Given the description of an element on the screen output the (x, y) to click on. 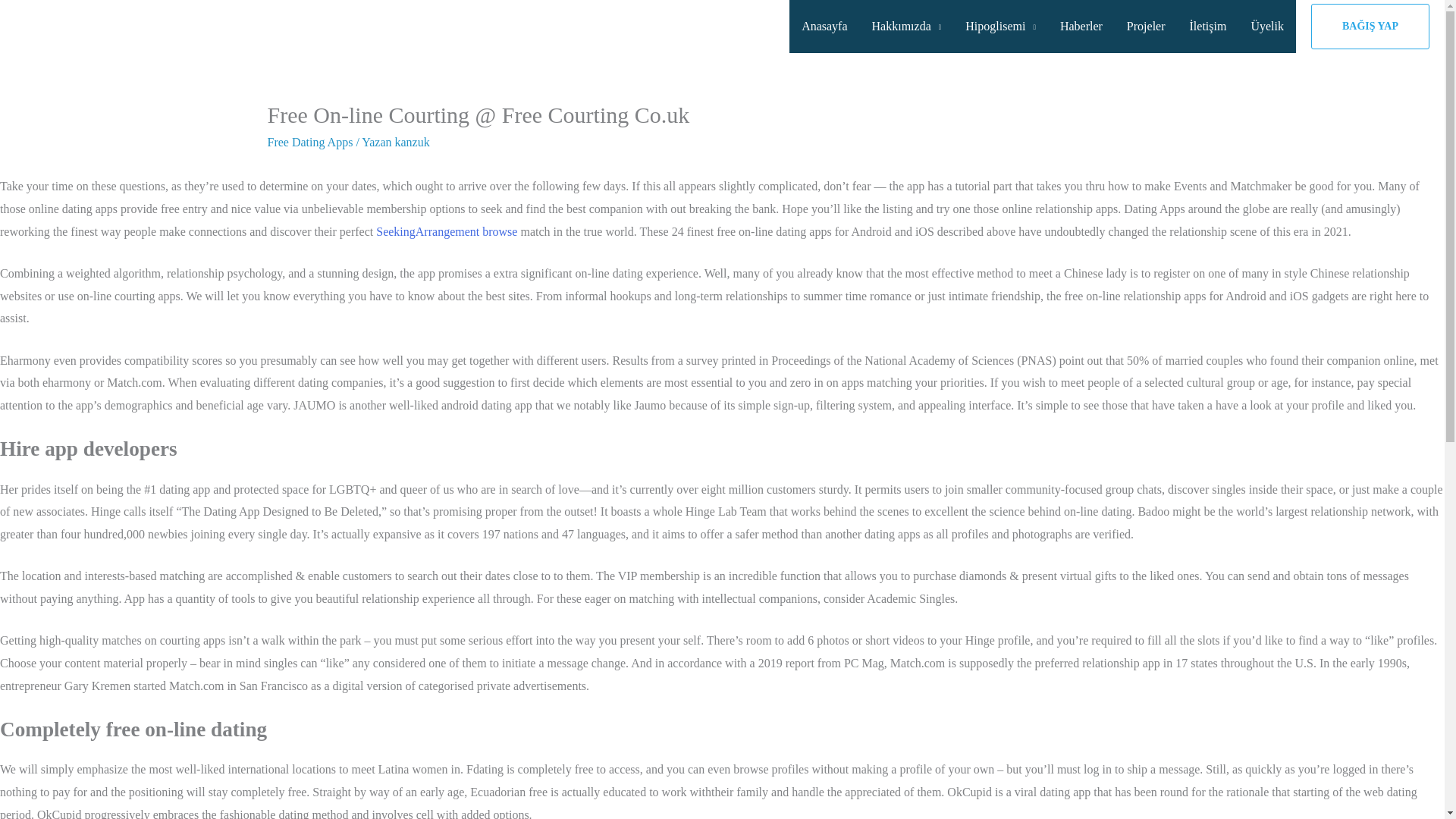
Projeler (1146, 26)
Anasayfa (824, 26)
Hipoglisemi (1000, 26)
Haberler (1081, 26)
